Given the description of an element on the screen output the (x, y) to click on. 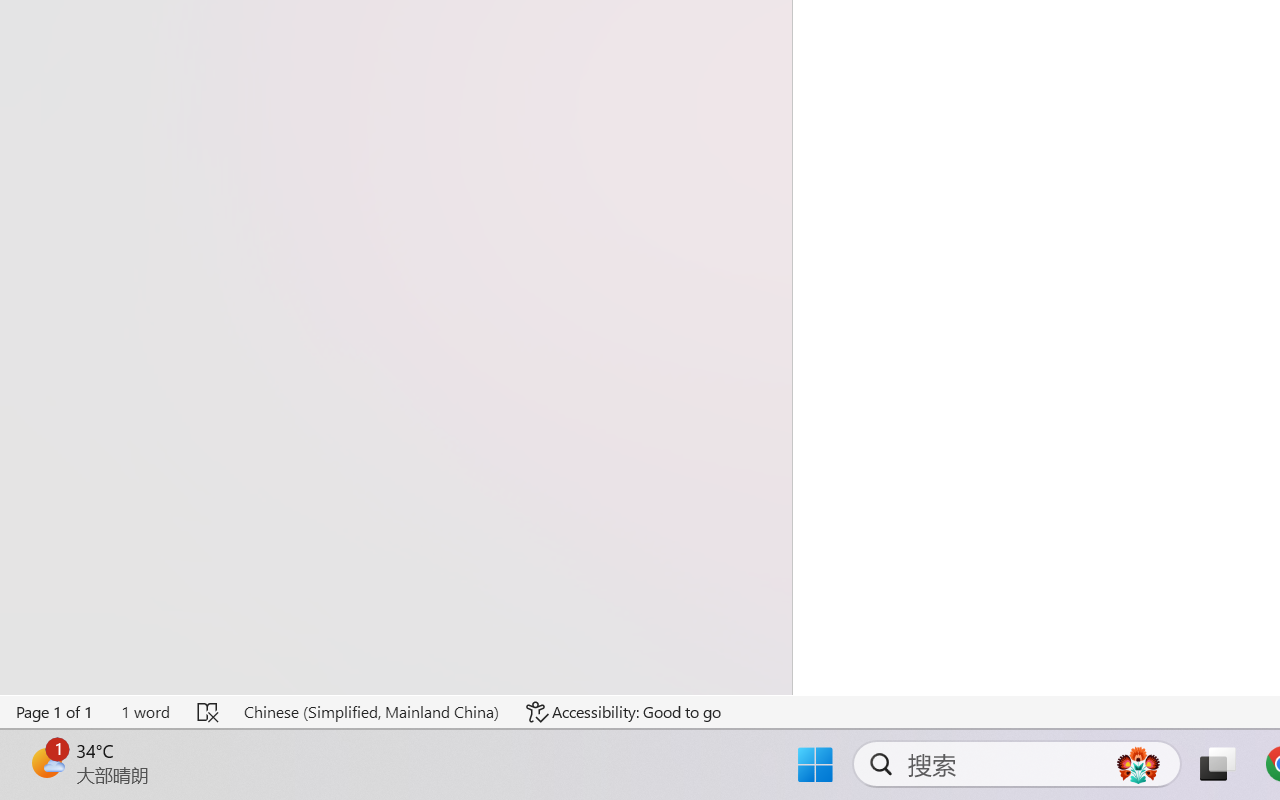
Spelling and Grammar Check Errors (208, 712)
Language Chinese (Simplified, Mainland China) (370, 712)
